Given the description of an element on the screen output the (x, y) to click on. 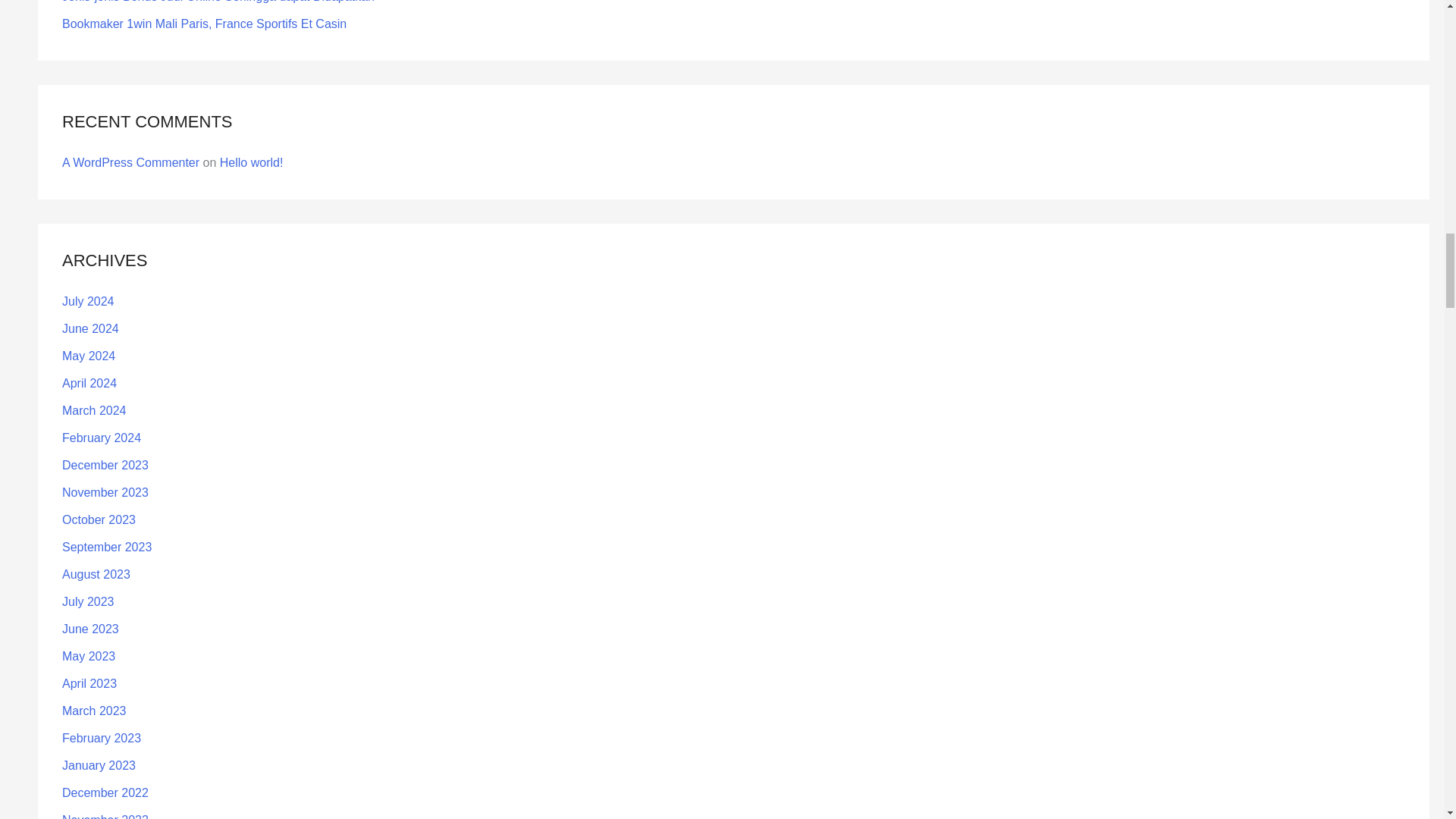
July 2024 (88, 300)
May 2024 (88, 355)
A WordPress Commenter (130, 162)
June 2024 (90, 328)
April 2024 (89, 382)
Hello world! (251, 162)
Bookmaker 1win Mali Paris, France Sportifs Et Casin (204, 23)
